Given the description of an element on the screen output the (x, y) to click on. 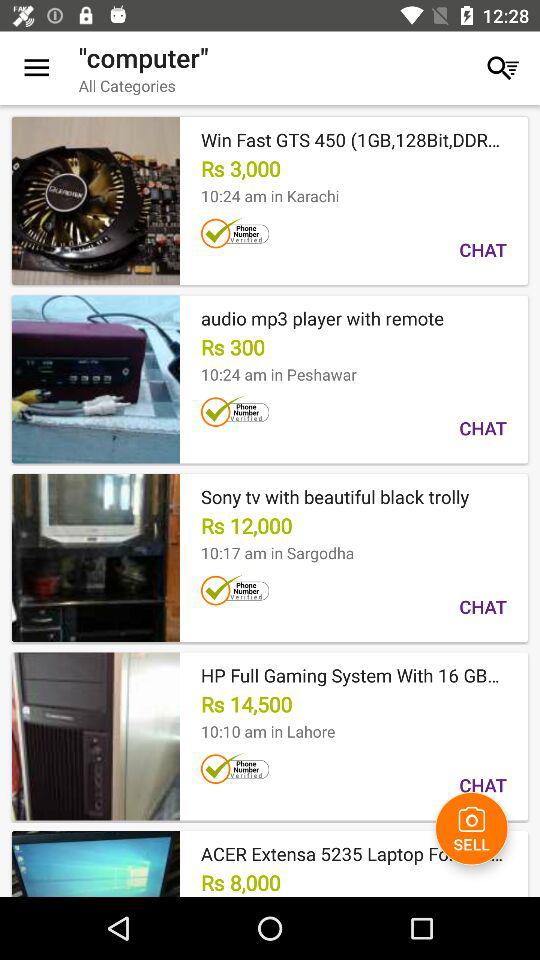
press icon next to rs 8,000 (471, 828)
